Given the description of an element on the screen output the (x, y) to click on. 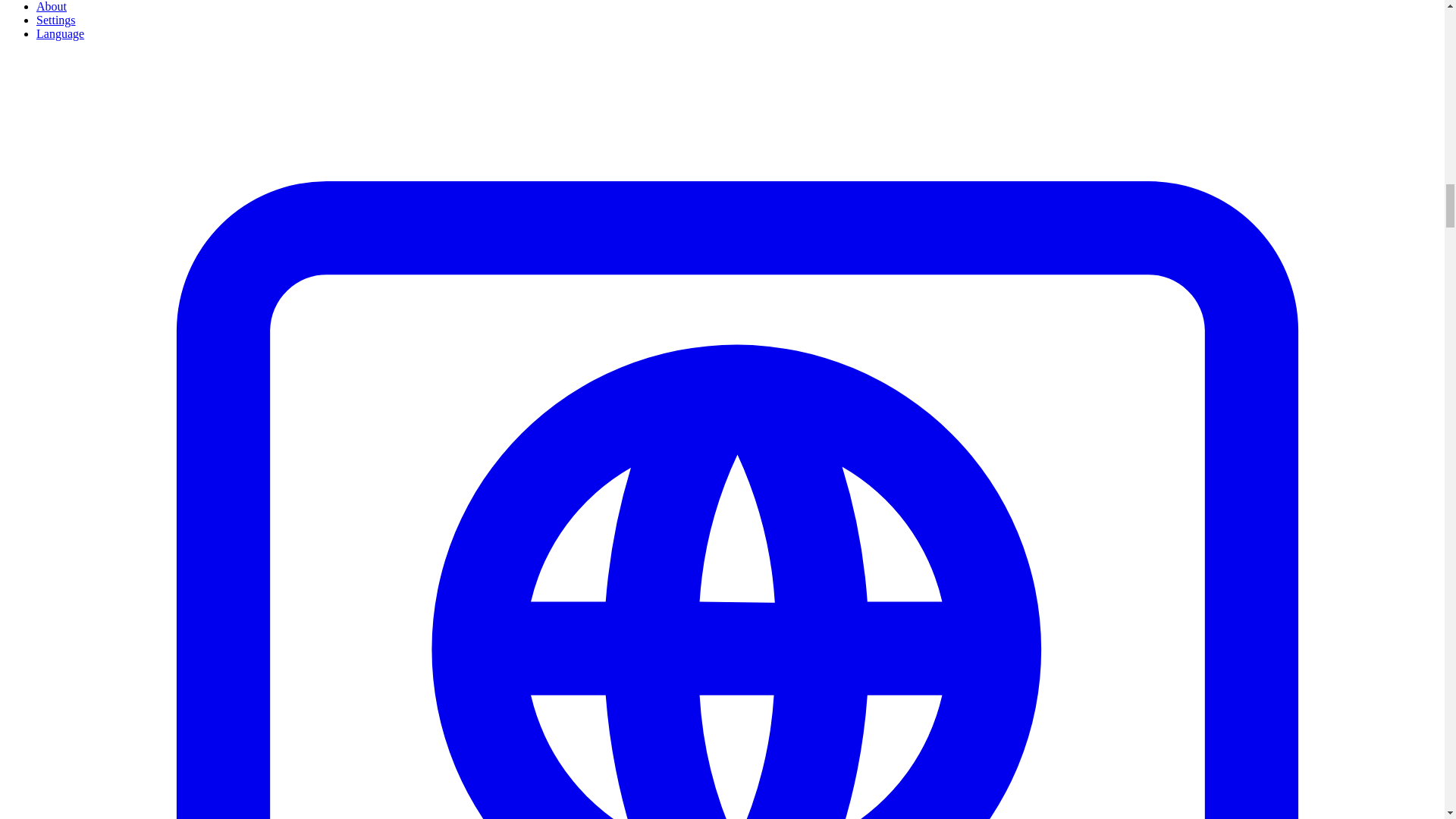
About (51, 6)
Settings (55, 19)
